Given the description of an element on the screen output the (x, y) to click on. 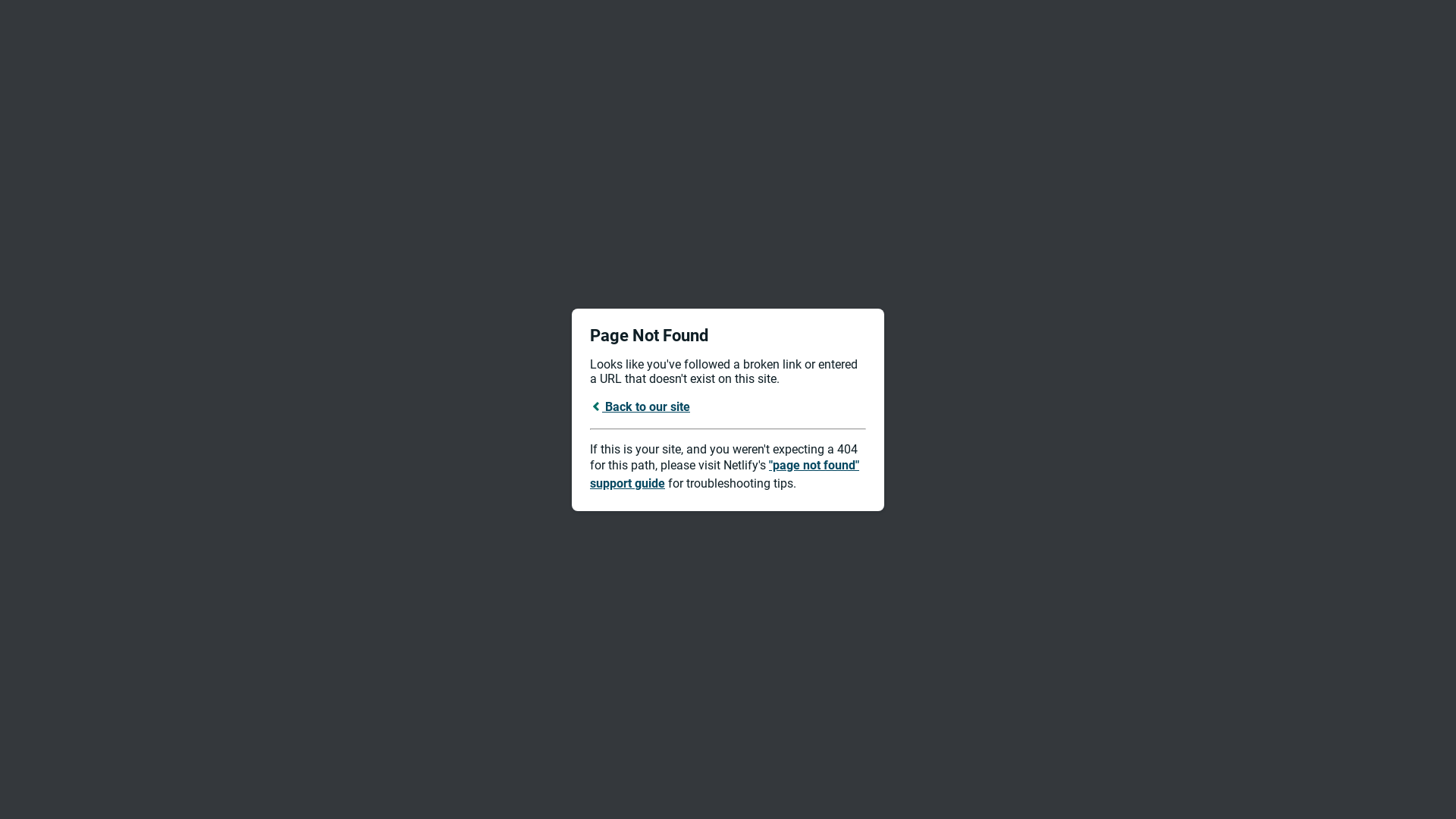
Back to our site Element type: text (639, 405)
"page not found" support guide Element type: text (724, 474)
